Given the description of an element on the screen output the (x, y) to click on. 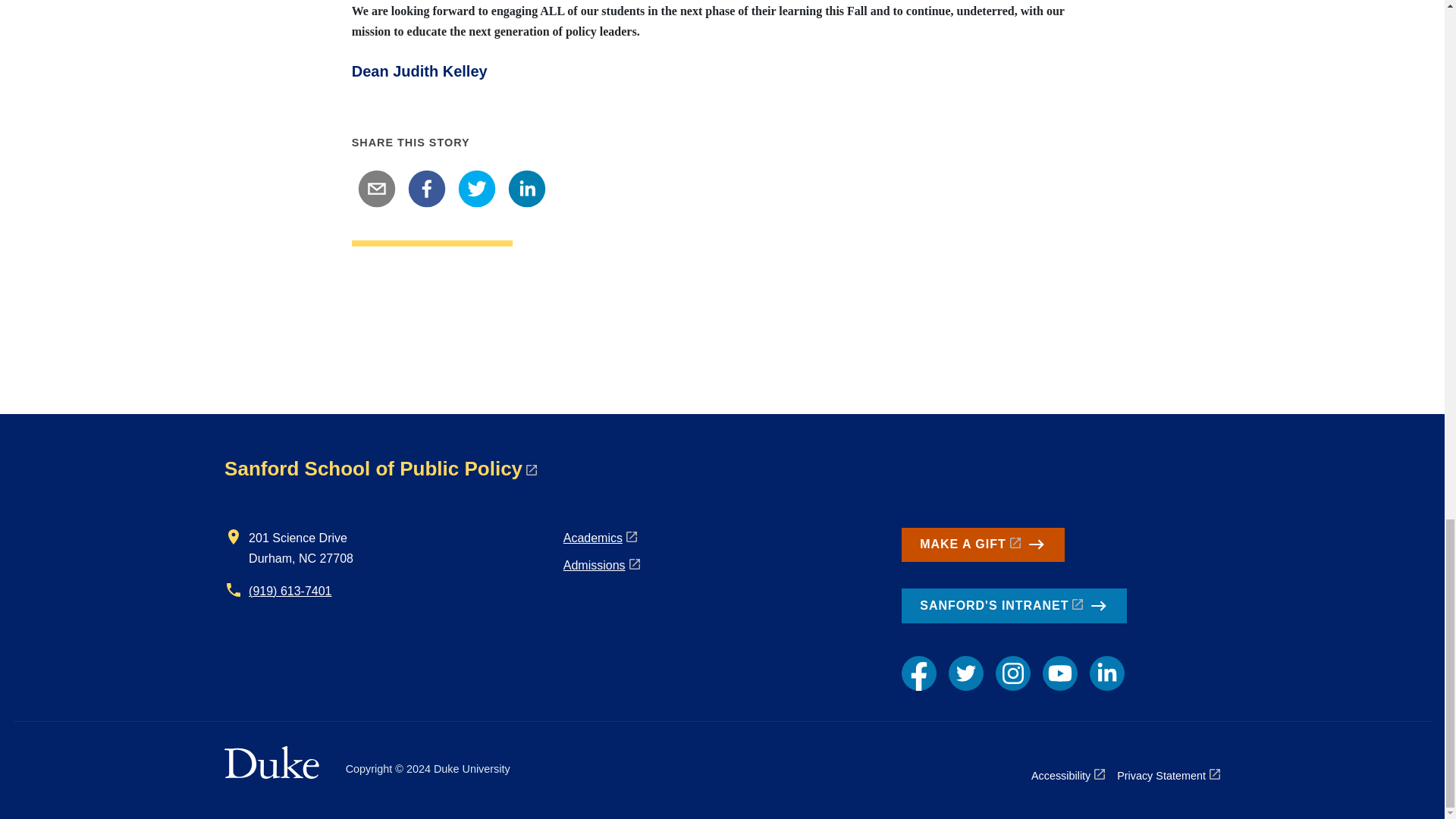
LinkedIn link (1106, 673)
Twitter link (966, 673)
YouTube link (1059, 673)
Instagram link (1012, 673)
Facebook link (918, 673)
